Given the description of an element on the screen output the (x, y) to click on. 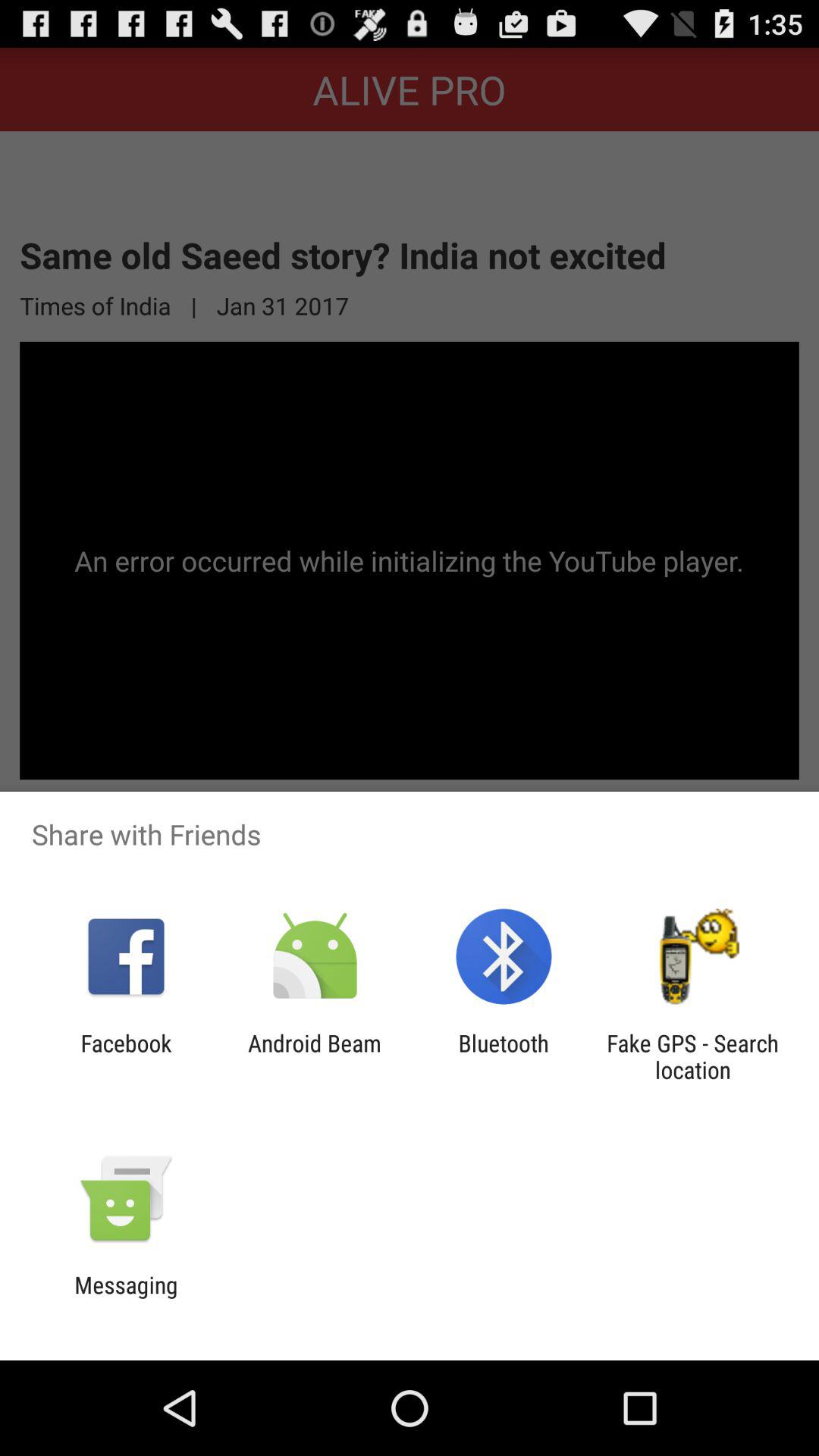
press item at the bottom right corner (692, 1056)
